Given the description of an element on the screen output the (x, y) to click on. 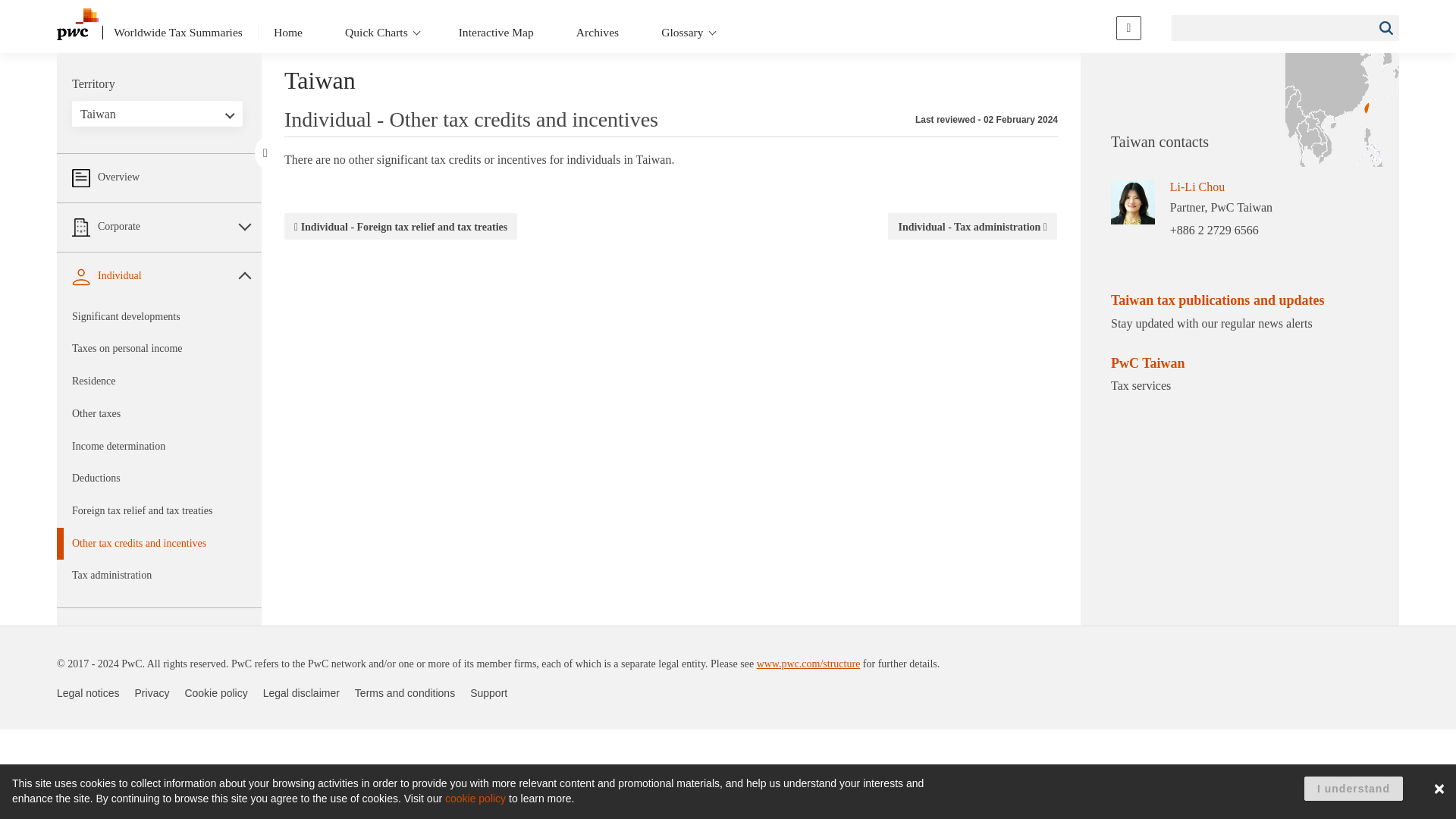
Glossary (686, 31)
Insert a query. Press enter to send (1272, 27)
Taiwan (157, 114)
Archives (597, 31)
Interactive Map (496, 31)
Worldwide Tax Summaries (172, 32)
Quick Charts (380, 31)
Home (287, 31)
